Given the description of an element on the screen output the (x, y) to click on. 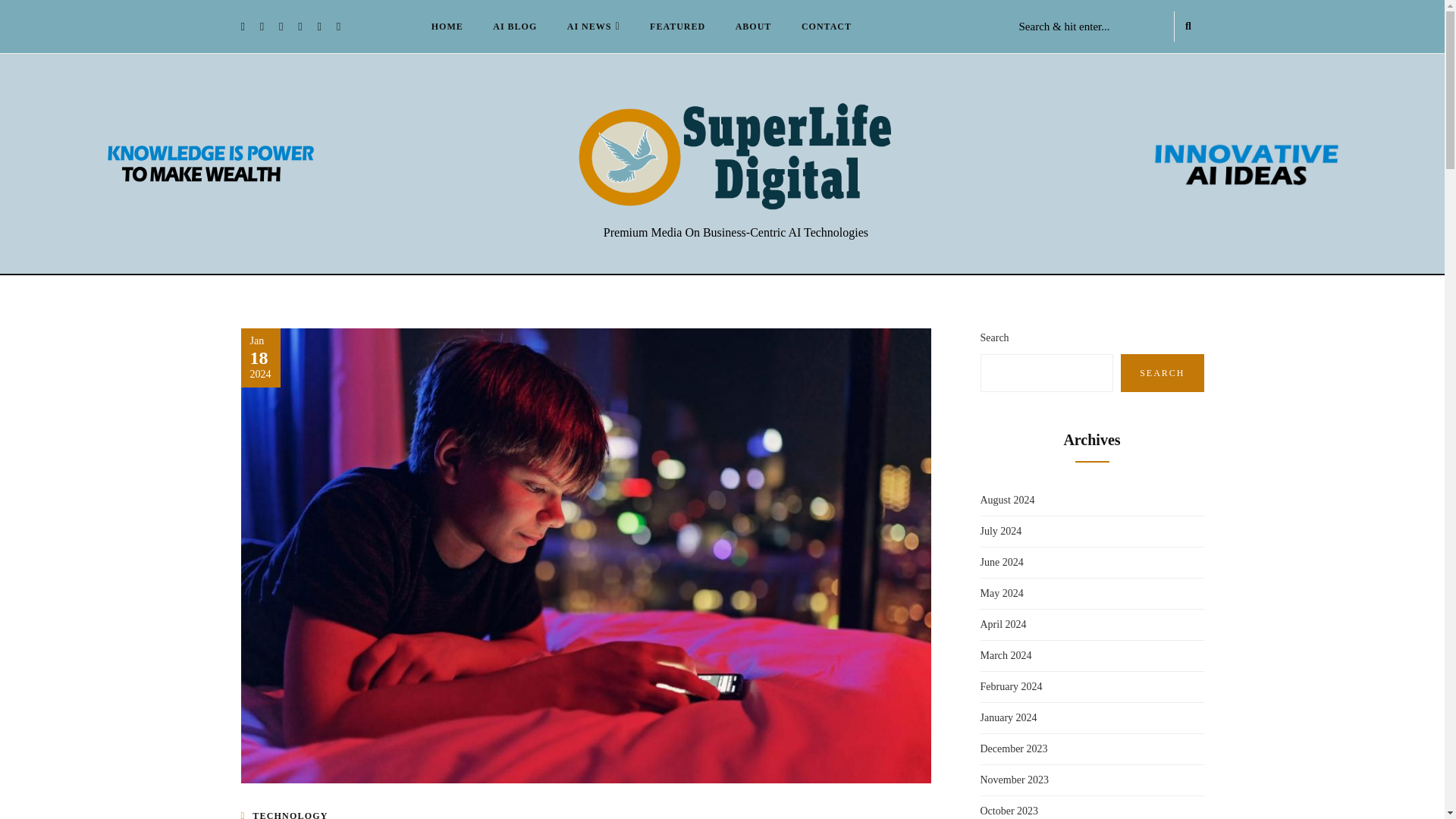
AI NEWS (593, 26)
AI BLOG (514, 26)
HOME (447, 26)
FEATURED (677, 26)
TECHNOLOGY (289, 814)
CONTACT (825, 26)
ABOUT (754, 26)
